Given the description of an element on the screen output the (x, y) to click on. 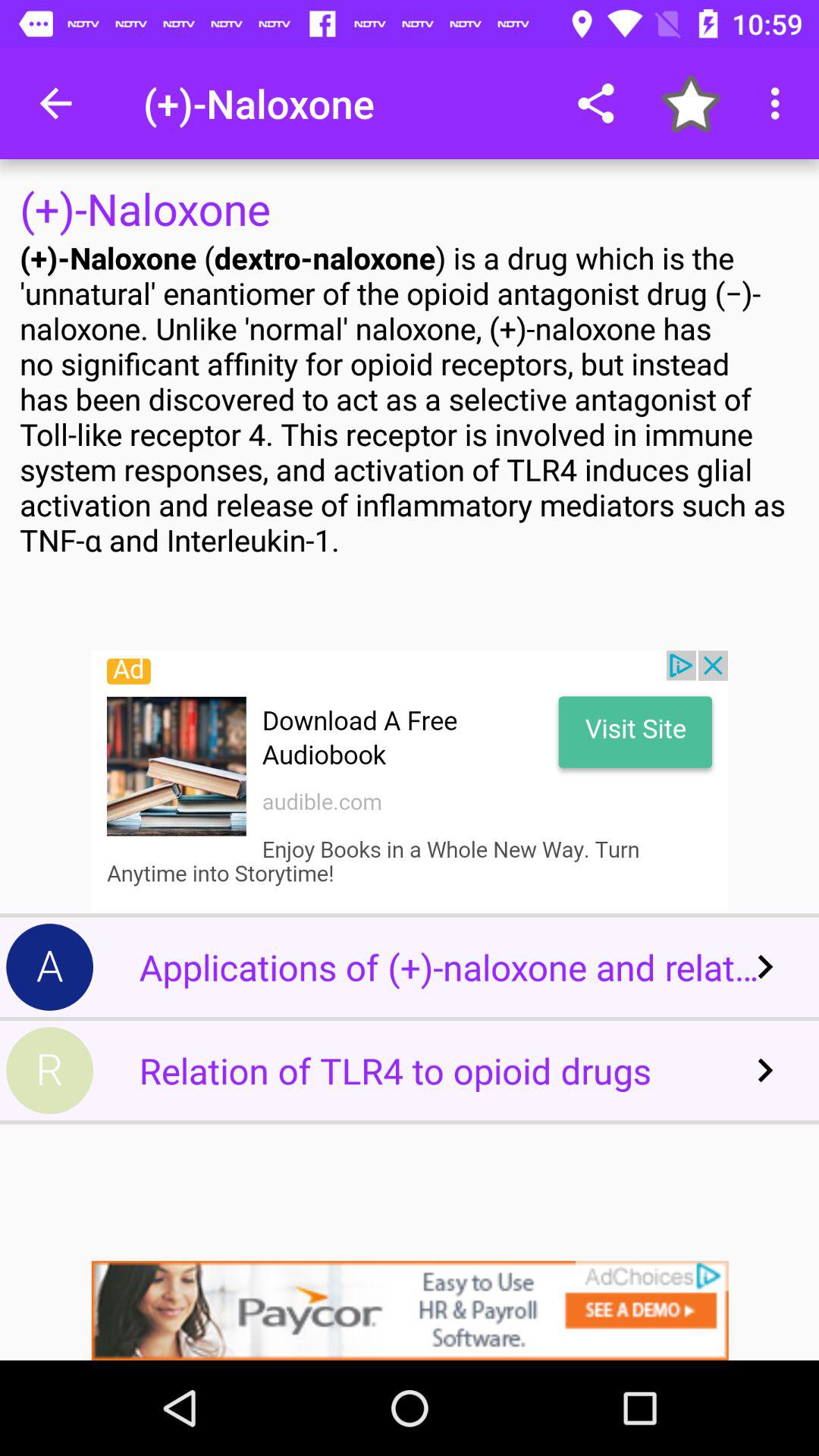
go to advertisement page (409, 1310)
